Given the description of an element on the screen output the (x, y) to click on. 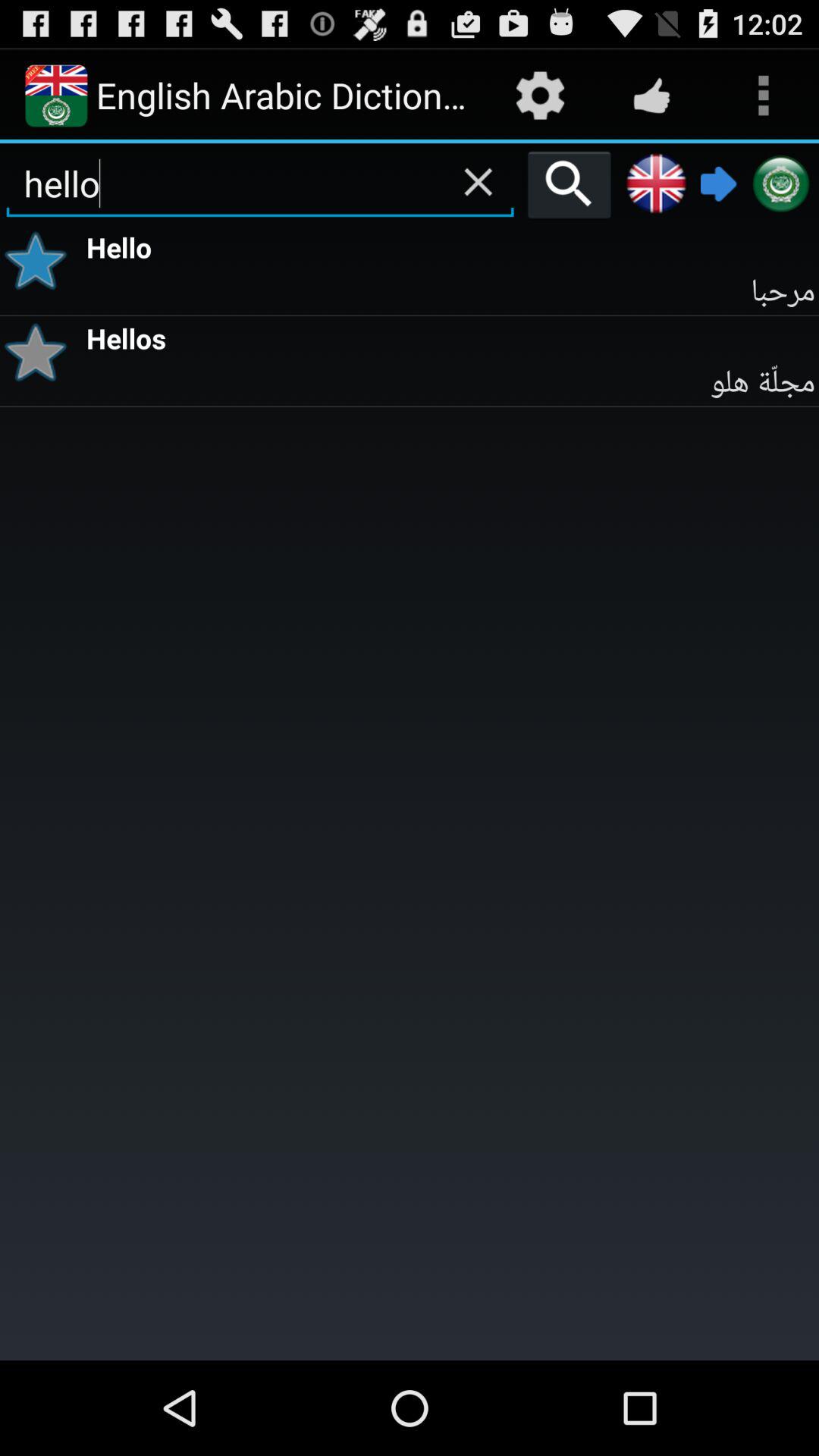
press item to the right of the english arabic dictionary item (540, 95)
